Given the description of an element on the screen output the (x, y) to click on. 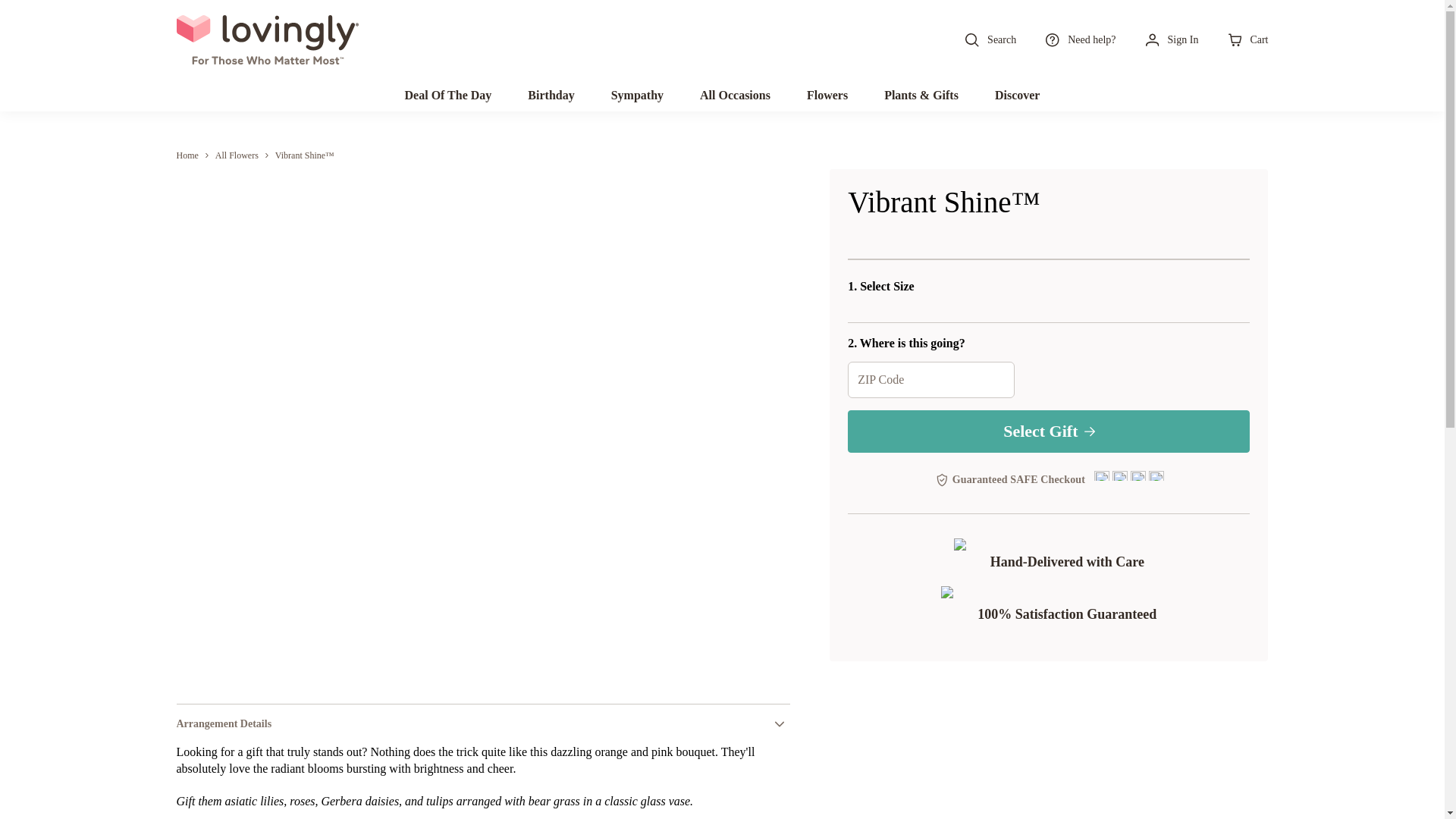
Cart (1246, 40)
Sign In (1170, 39)
Sympathy (636, 95)
Deal Of The Day (449, 95)
Birthday (550, 95)
Need help? (1079, 39)
Search (989, 40)
